Given the description of an element on the screen output the (x, y) to click on. 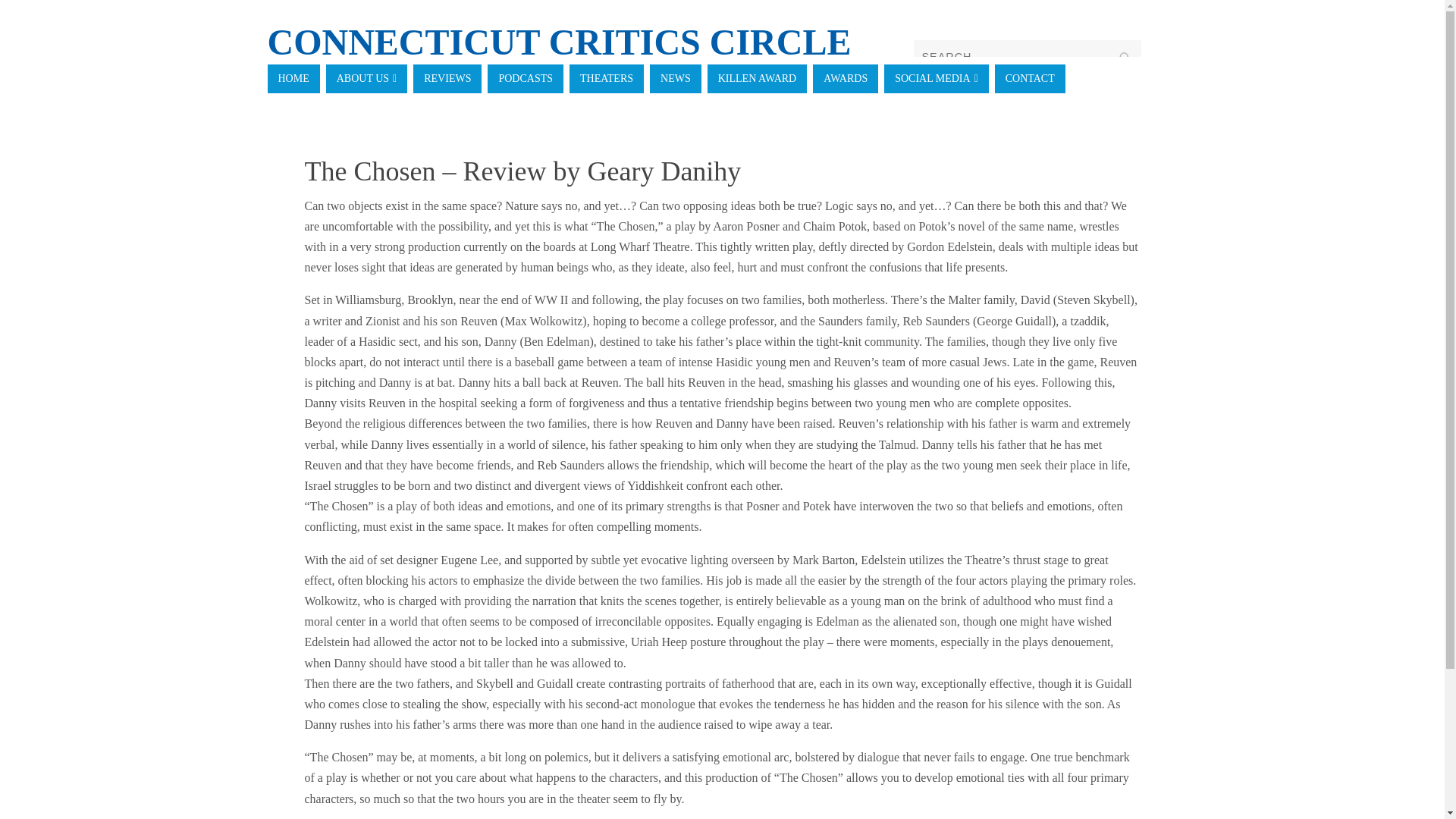
CT Critics Circle Awards (844, 78)
Home (292, 78)
KILLEN AWARD (756, 78)
HOME (292, 78)
News (675, 78)
Killen Award (756, 78)
CONNECTICUT CRITICS CIRCLE (558, 42)
NEWS (675, 78)
Connecticut Critics Circle (558, 42)
Theaters (606, 78)
